Given the description of an element on the screen output the (x, y) to click on. 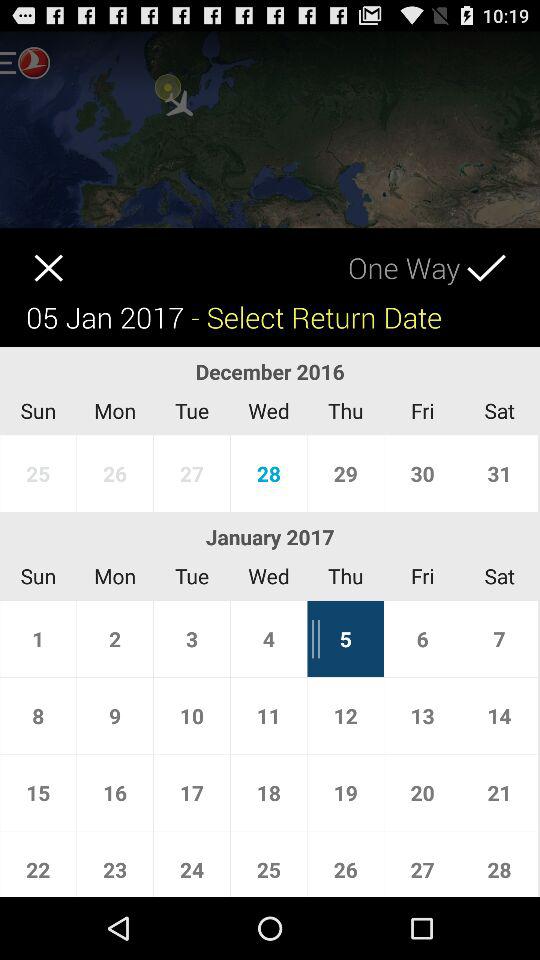
ok icon (503, 254)
